Given the description of an element on the screen output the (x, y) to click on. 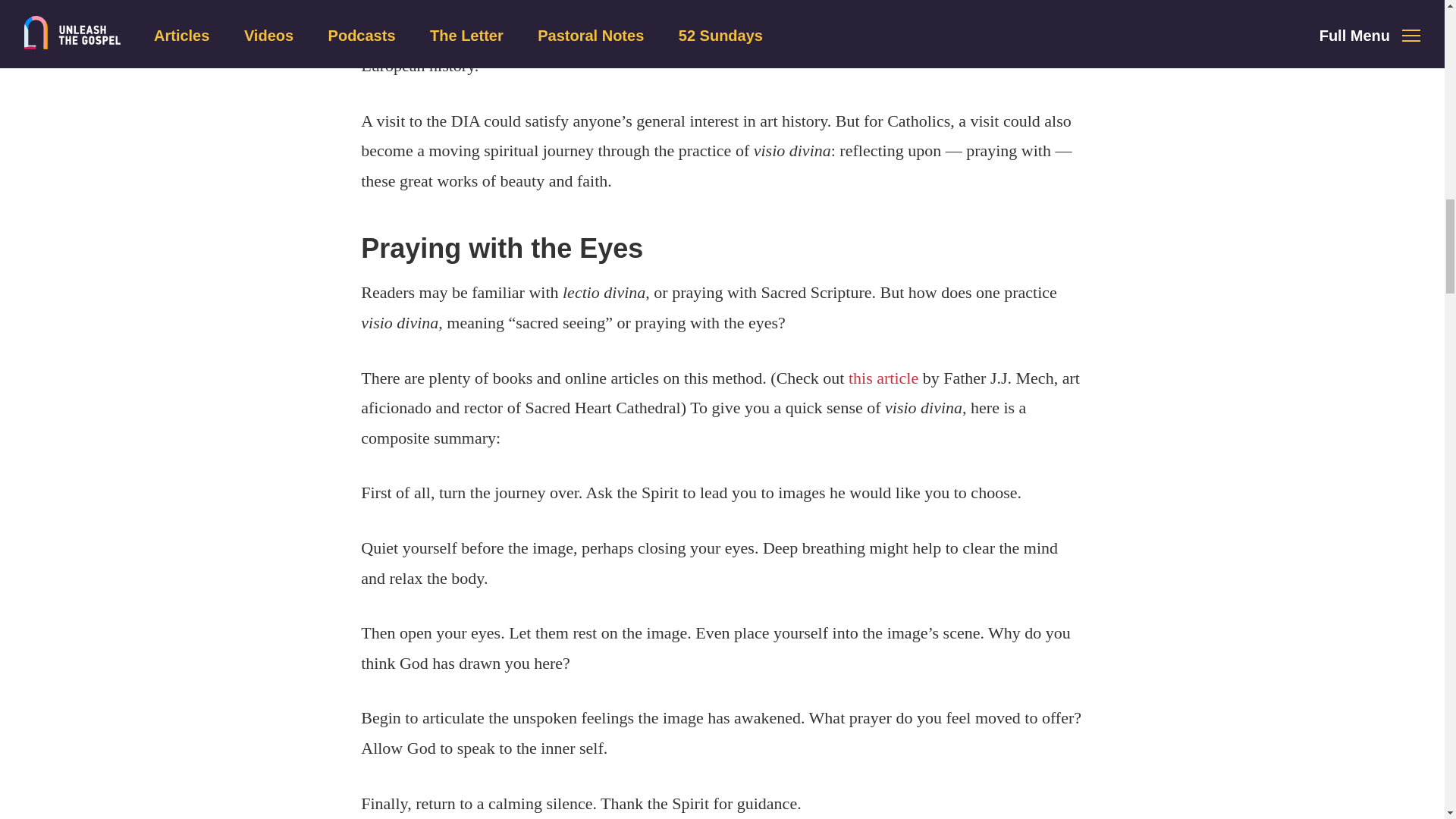
this article (883, 377)
